Given the description of an element on the screen output the (x, y) to click on. 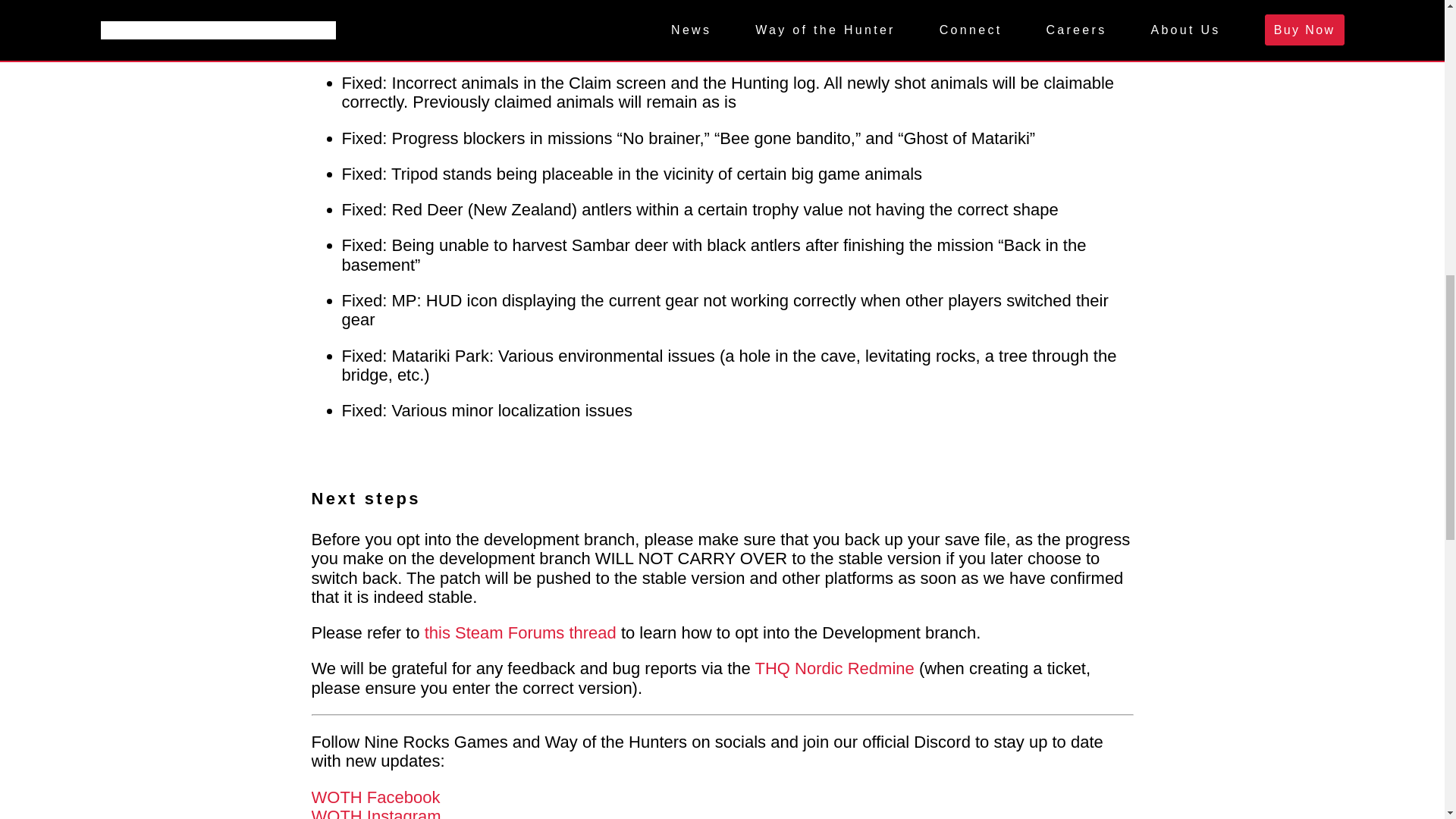
WOTH Instagram (376, 812)
WOTH Facebook (375, 796)
THQ Nordic Redmine (836, 668)
this Steam Forums thread (520, 632)
